Given the description of an element on the screen output the (x, y) to click on. 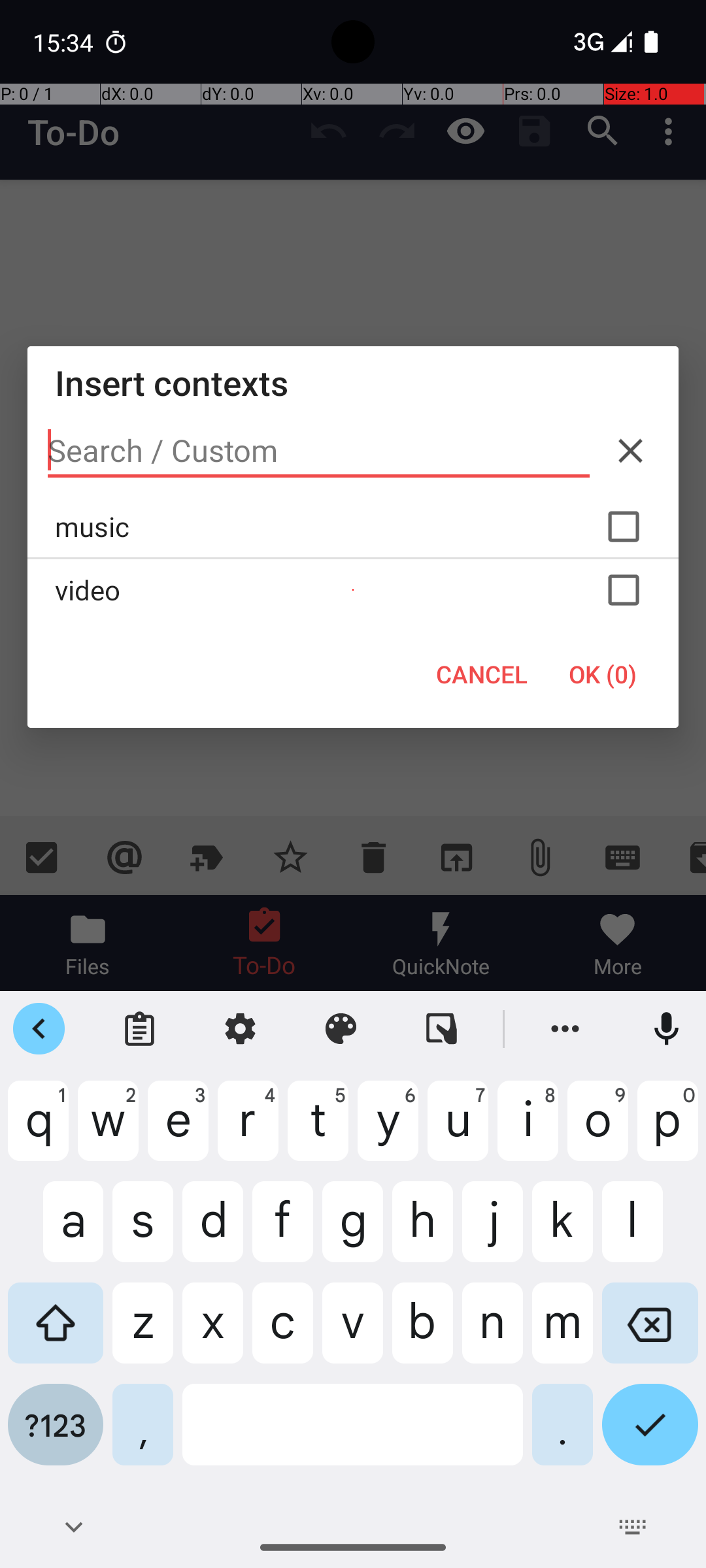
Insert contexts Element type: android.widget.TextView (352, 382)
Search / Custom Element type: android.widget.EditText (318, 450)
music Element type: android.widget.CheckedTextView (352, 526)
video Element type: android.widget.CheckedTextView (352, 589)
